Given the description of an element on the screen output the (x, y) to click on. 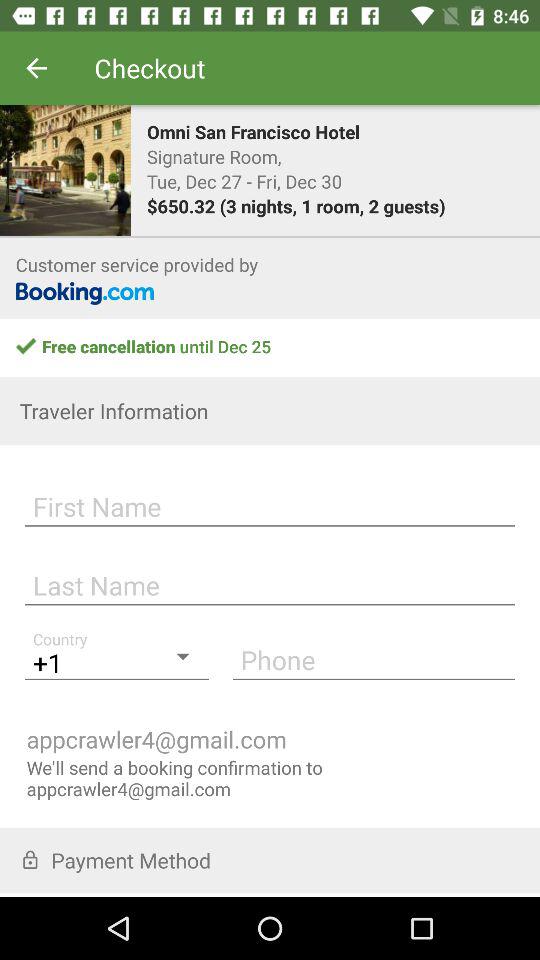
choose the icon below traveler information (269, 503)
